Given the description of an element on the screen output the (x, y) to click on. 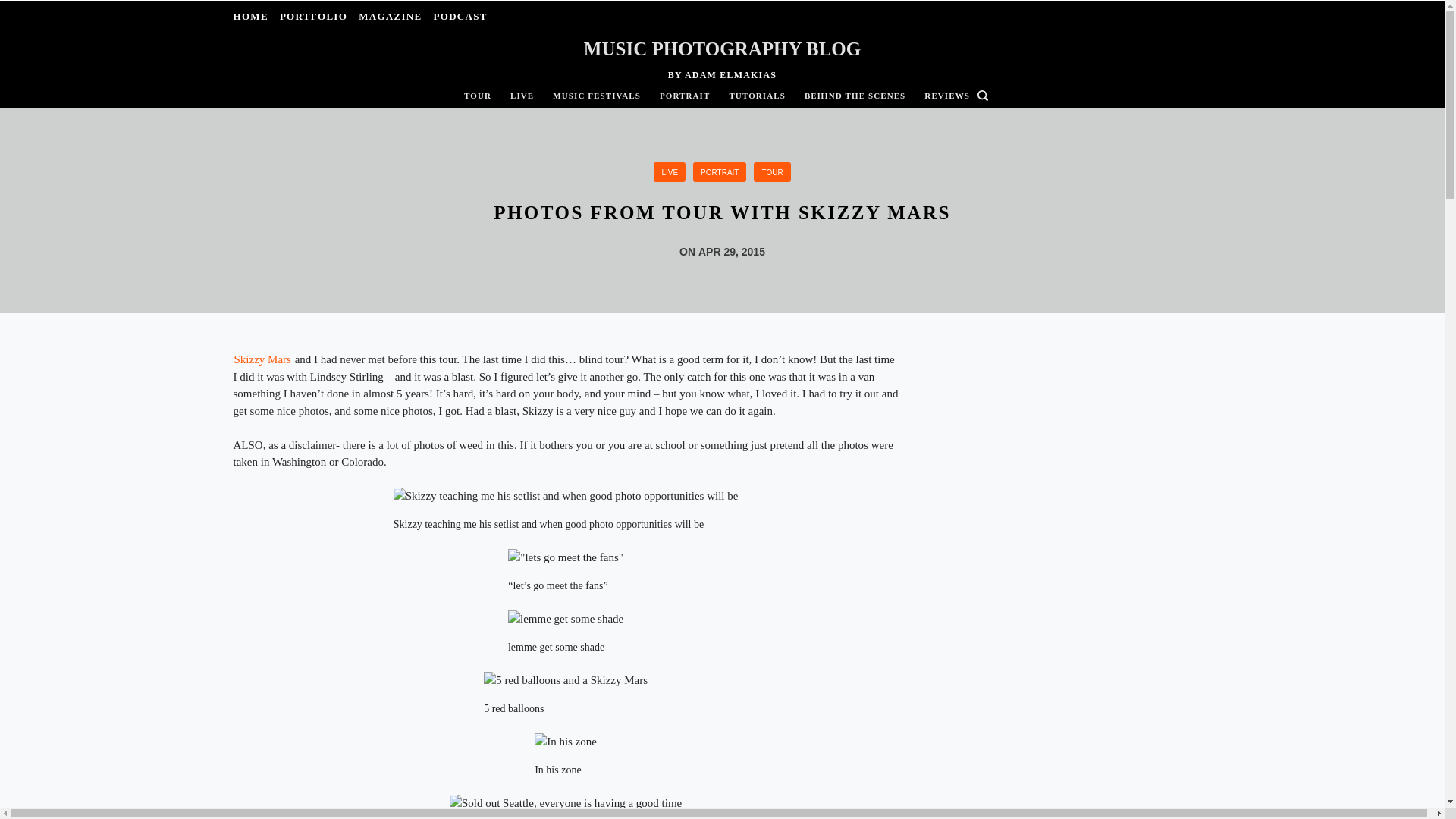
MUSIC PHOTOGRAPHY BLOG (721, 48)
LIVE (669, 171)
LIVE (521, 95)
PORTFOLIO (312, 16)
MAGAZINE (390, 16)
TOUR (482, 95)
PORTRAIT (719, 171)
Skizzy Mars (262, 358)
PODCAST (457, 16)
TUTORIALS (756, 95)
